Given the description of an element on the screen output the (x, y) to click on. 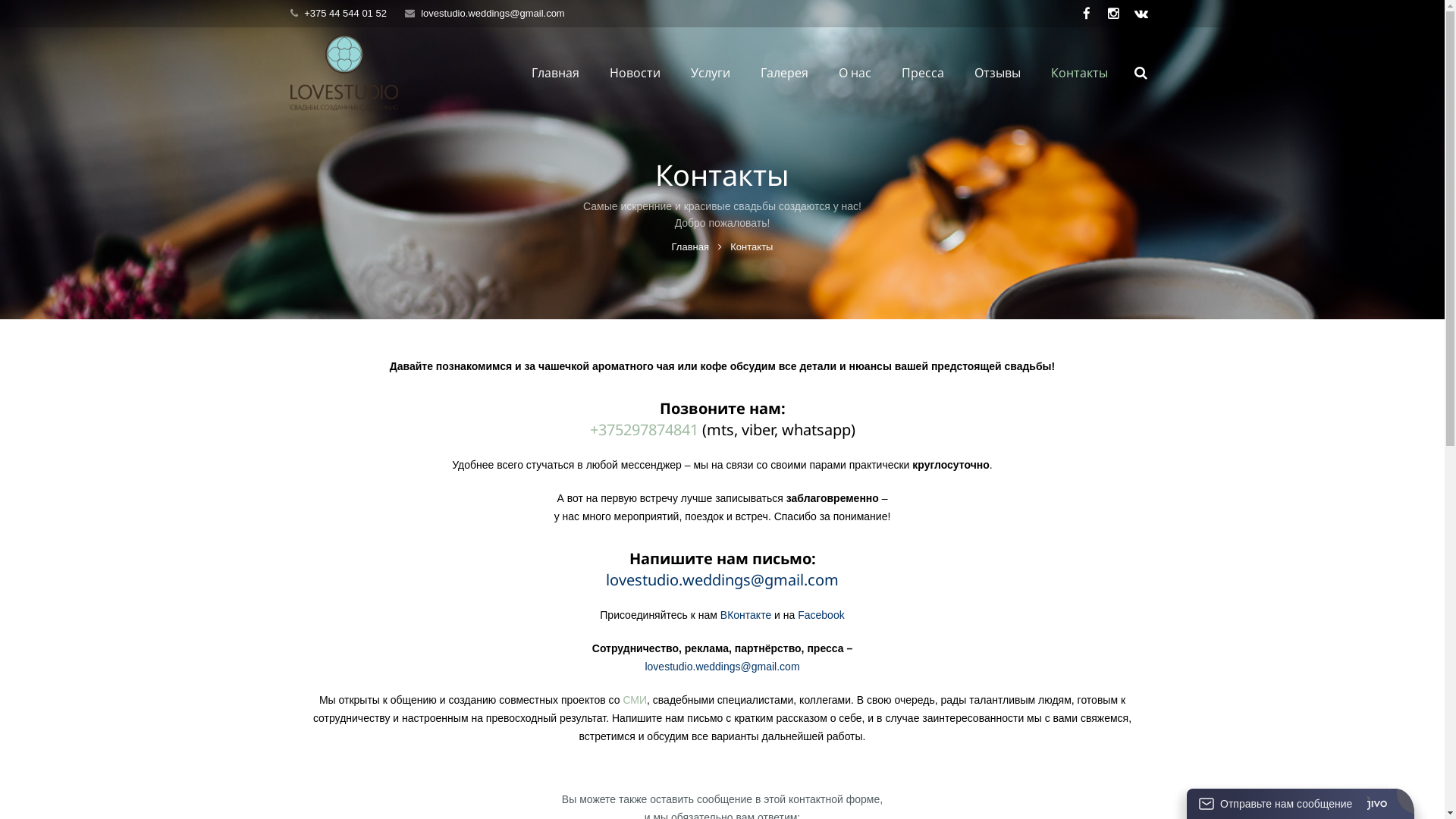
lovestudio.weddings@gmail.com Element type: text (721, 666)
Facebook Element type: text (820, 614)
lovestudio.weddings@gmail.com Element type: text (492, 12)
lovestudio.weddings@gmail.com Element type: text (721, 579)
+375297874841 Element type: text (643, 429)
